Given the description of an element on the screen output the (x, y) to click on. 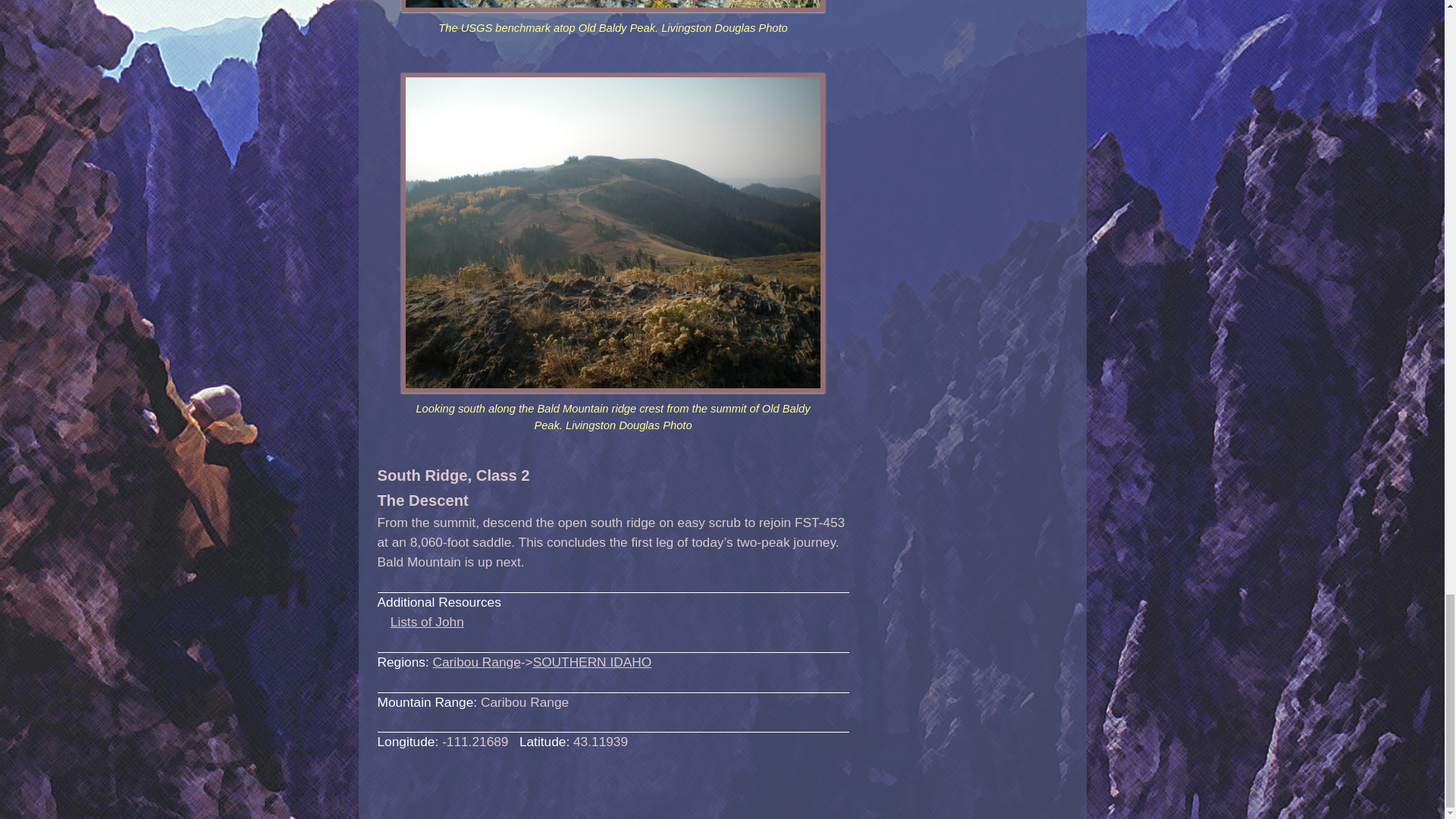
Lists of John (427, 621)
Caribou Range (476, 661)
SOUTHERN IDAHO (592, 661)
